Given the description of an element on the screen output the (x, y) to click on. 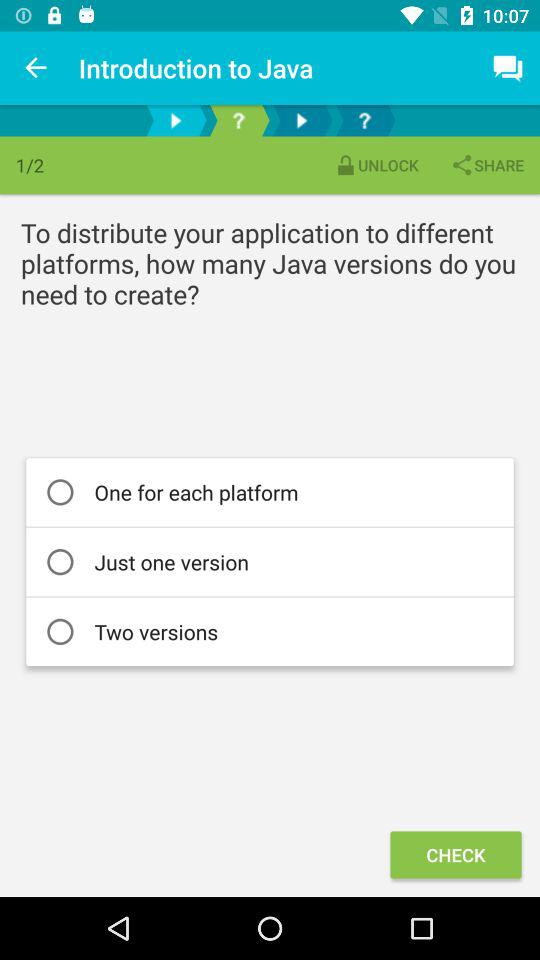
play video (175, 120)
